Given the description of an element on the screen output the (x, y) to click on. 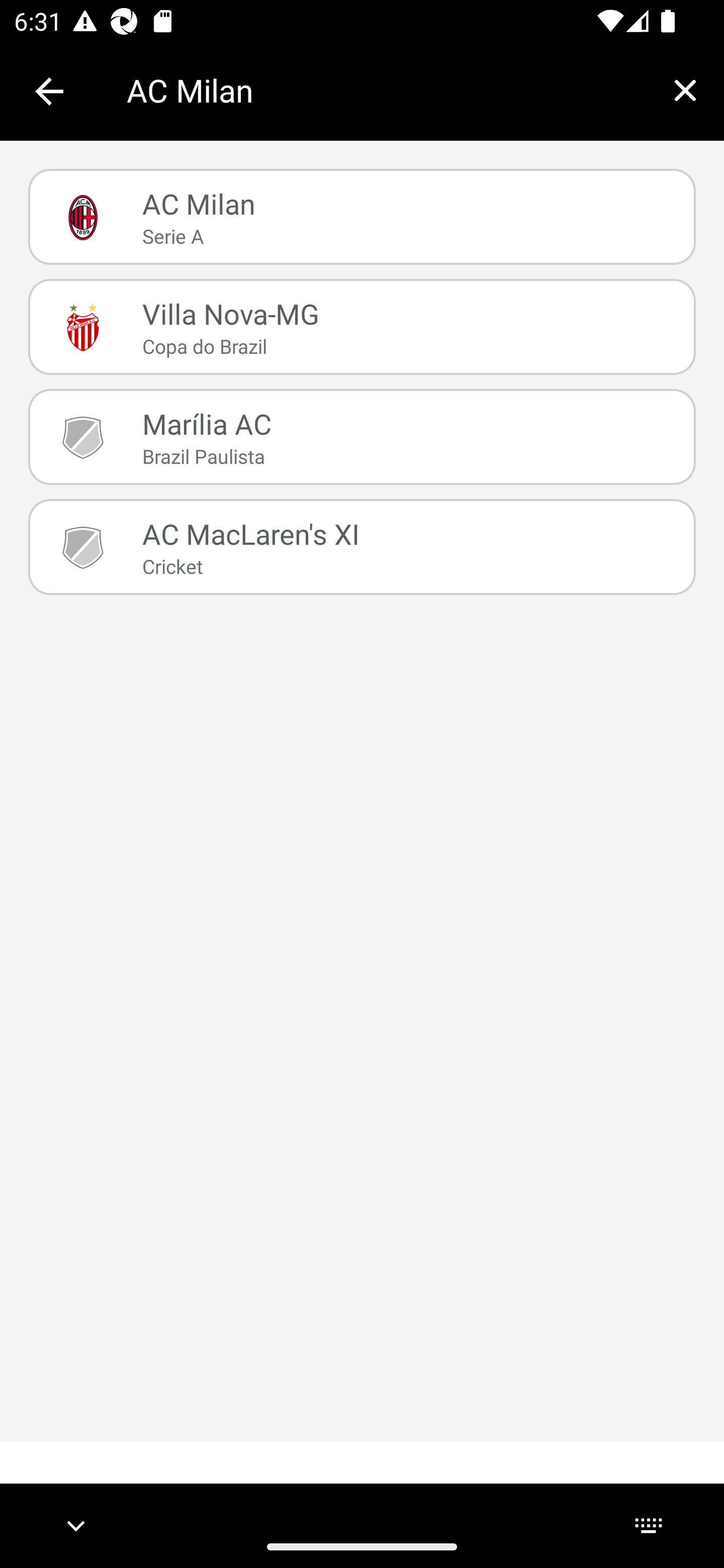
Collapse (49, 91)
Clear query (685, 89)
AC Milan (386, 90)
AC Milan Serie A (361, 216)
Villa Nova-MG Copa do Brazil (361, 326)
Marília AC Brazil Paulista (361, 436)
AC MacLaren's XI Cricket (361, 546)
